Given the description of an element on the screen output the (x, y) to click on. 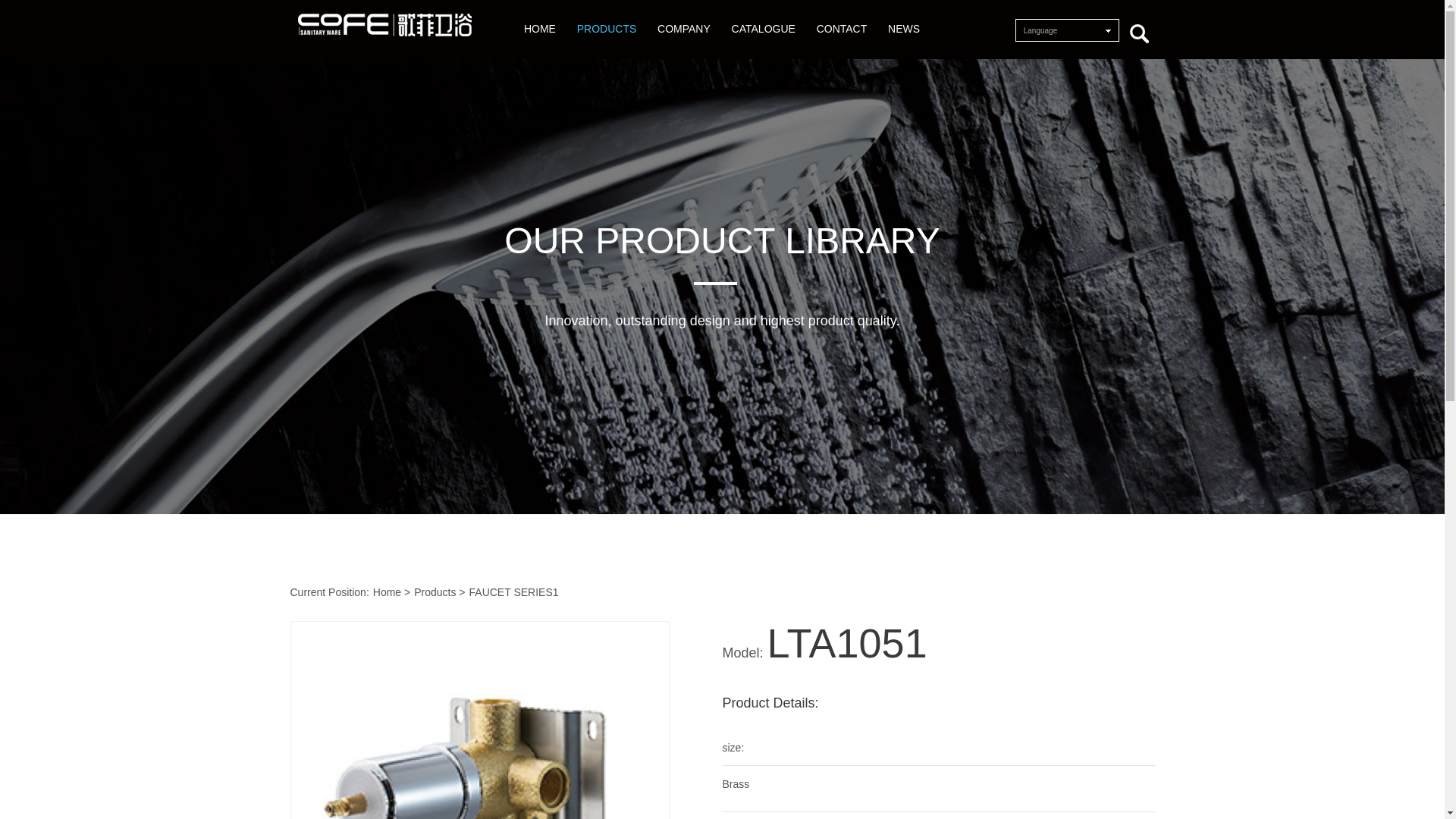
CATALOGUE Element type: text (763, 17)
CONTACT Element type: text (842, 17)
Home > Element type: text (391, 592)
COMPANY Element type: text (684, 17)
Products > Element type: text (439, 592)
NEWS Element type: text (903, 17)
FAUCET SERIES1 Element type: text (513, 592)
PRODUCTS Element type: text (606, 17)
HOME Element type: text (539, 17)
